Given the description of an element on the screen output the (x, y) to click on. 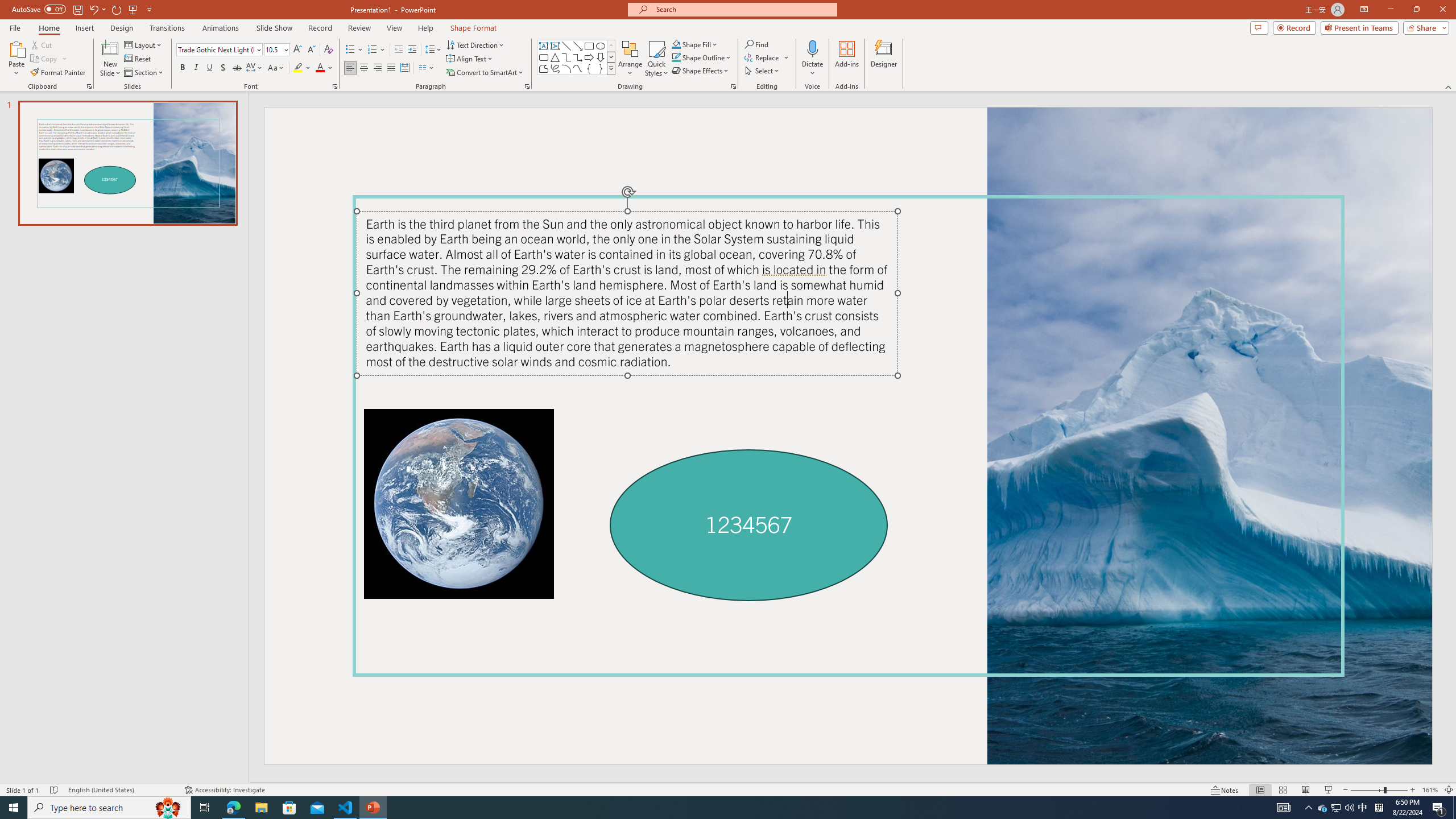
Class: NetUITextbox (847, 266)
